Given the description of an element on the screen output the (x, y) to click on. 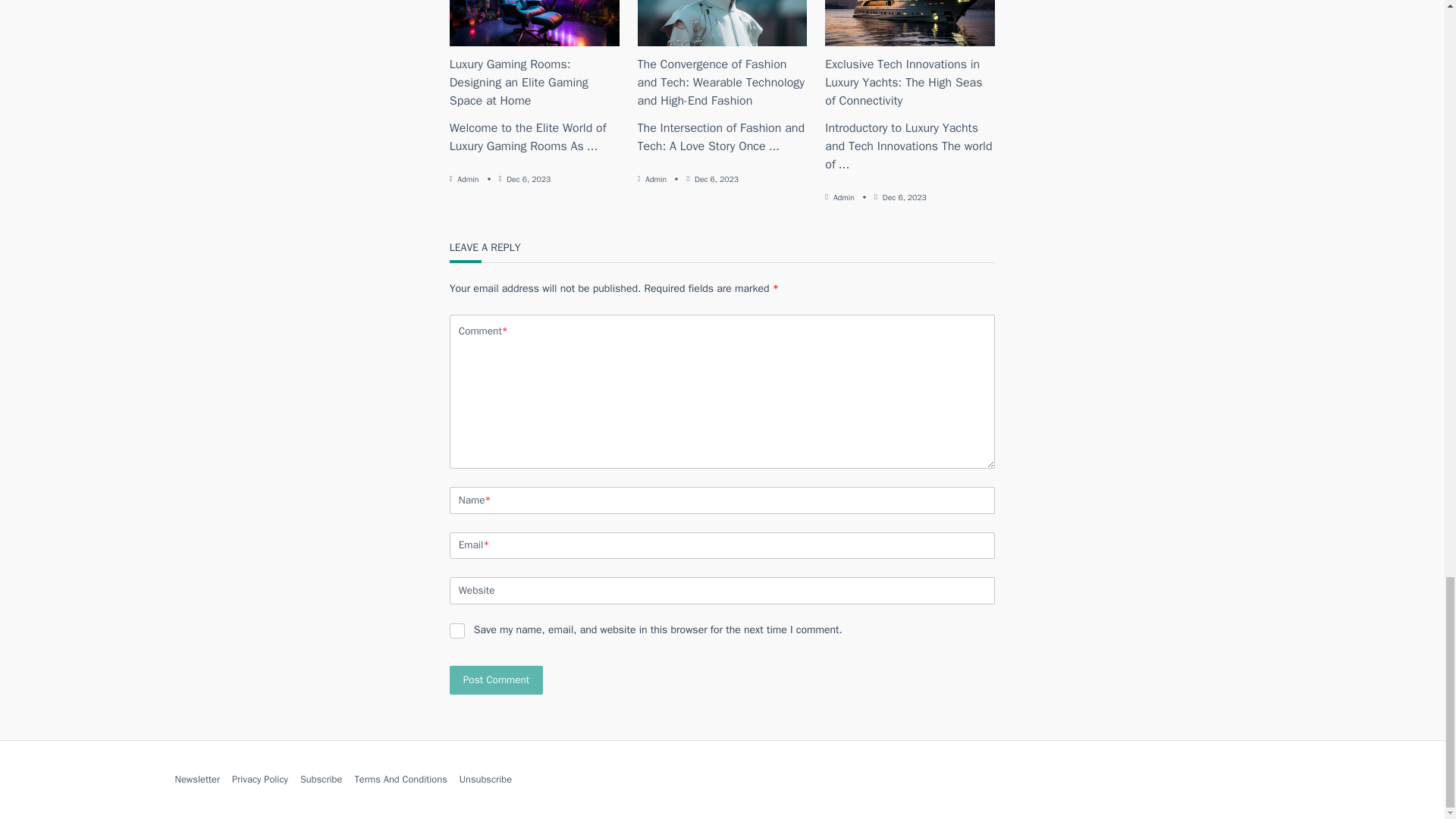
Dec 6, 2023 (528, 179)
Admin (655, 179)
yes (456, 630)
Dec 6, 2023 (716, 179)
Admin (468, 179)
Luxury Gaming Rooms: Designing an Elite Gaming Space at Home (518, 82)
Post Comment (496, 680)
